Given the description of an element on the screen output the (x, y) to click on. 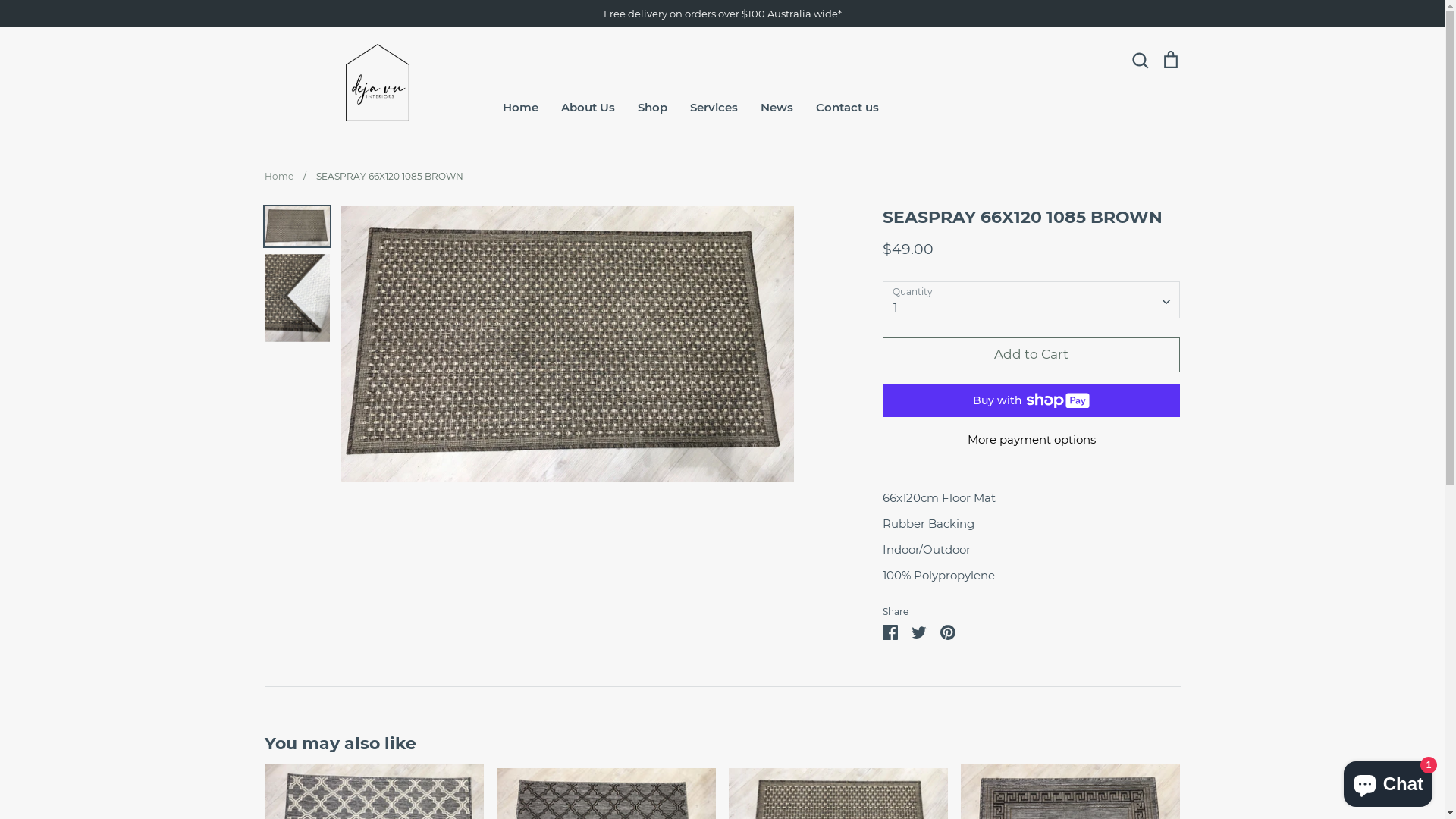
Shopify online store chat Element type: hover (1388, 780)
Shop Element type: text (652, 107)
Contact us Element type: text (846, 107)
Home Element type: text (277, 176)
/ SEASPRAY 66X120 1085 BROWN Element type: text (379, 176)
Share on Facebook Element type: text (889, 629)
Pin it Element type: text (947, 629)
Add to Cart Element type: text (1031, 354)
Home Element type: text (520, 107)
Cart Element type: text (1169, 59)
About Us Element type: text (588, 107)
More payment options Element type: text (1031, 439)
Search Element type: text (1139, 59)
Services Element type: text (713, 107)
Share on Twitter Element type: text (918, 629)
News Element type: text (776, 107)
